Given the description of an element on the screen output the (x, y) to click on. 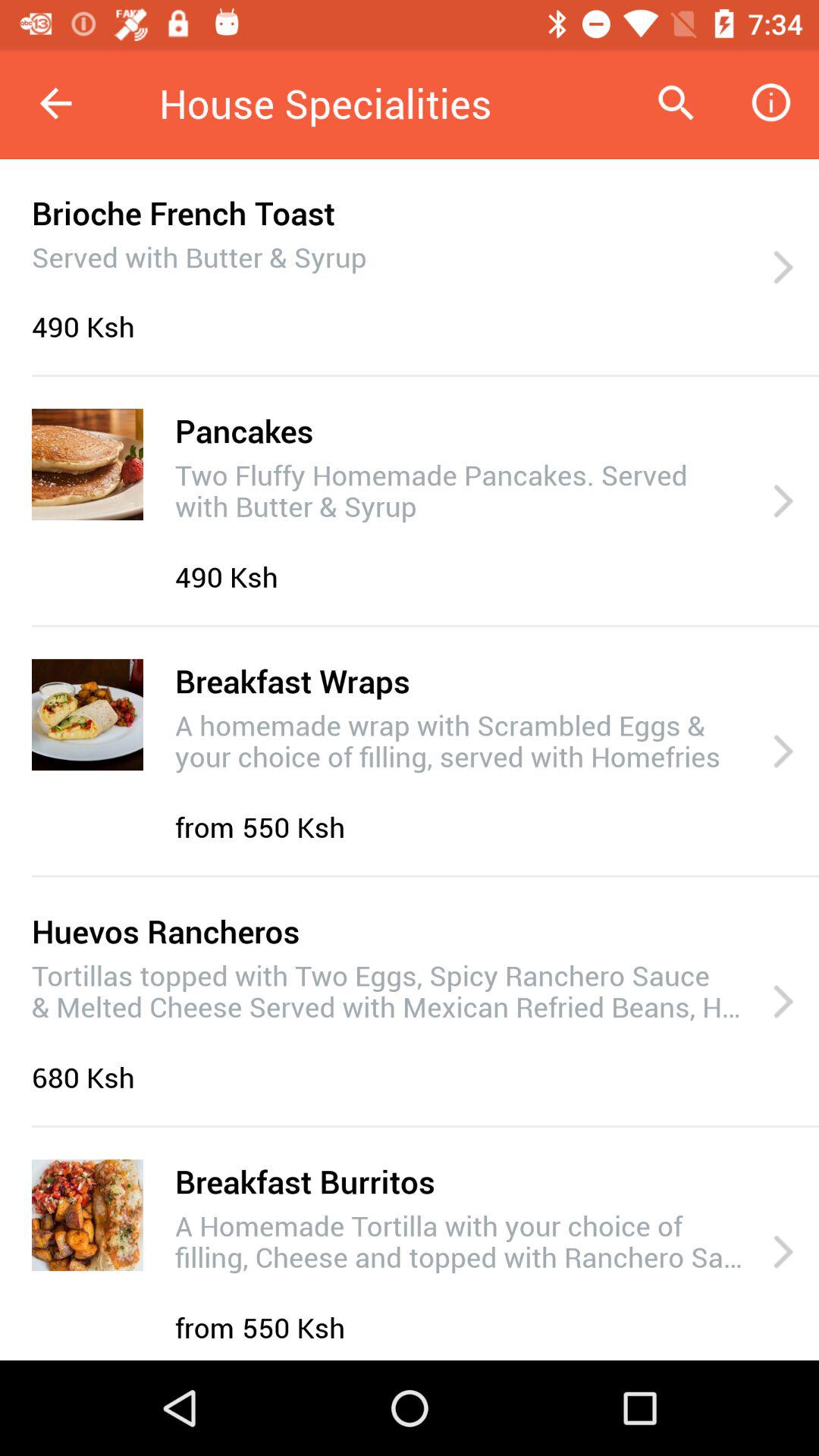
turn on the icon to the left of house specialities (55, 103)
